Given the description of an element on the screen output the (x, y) to click on. 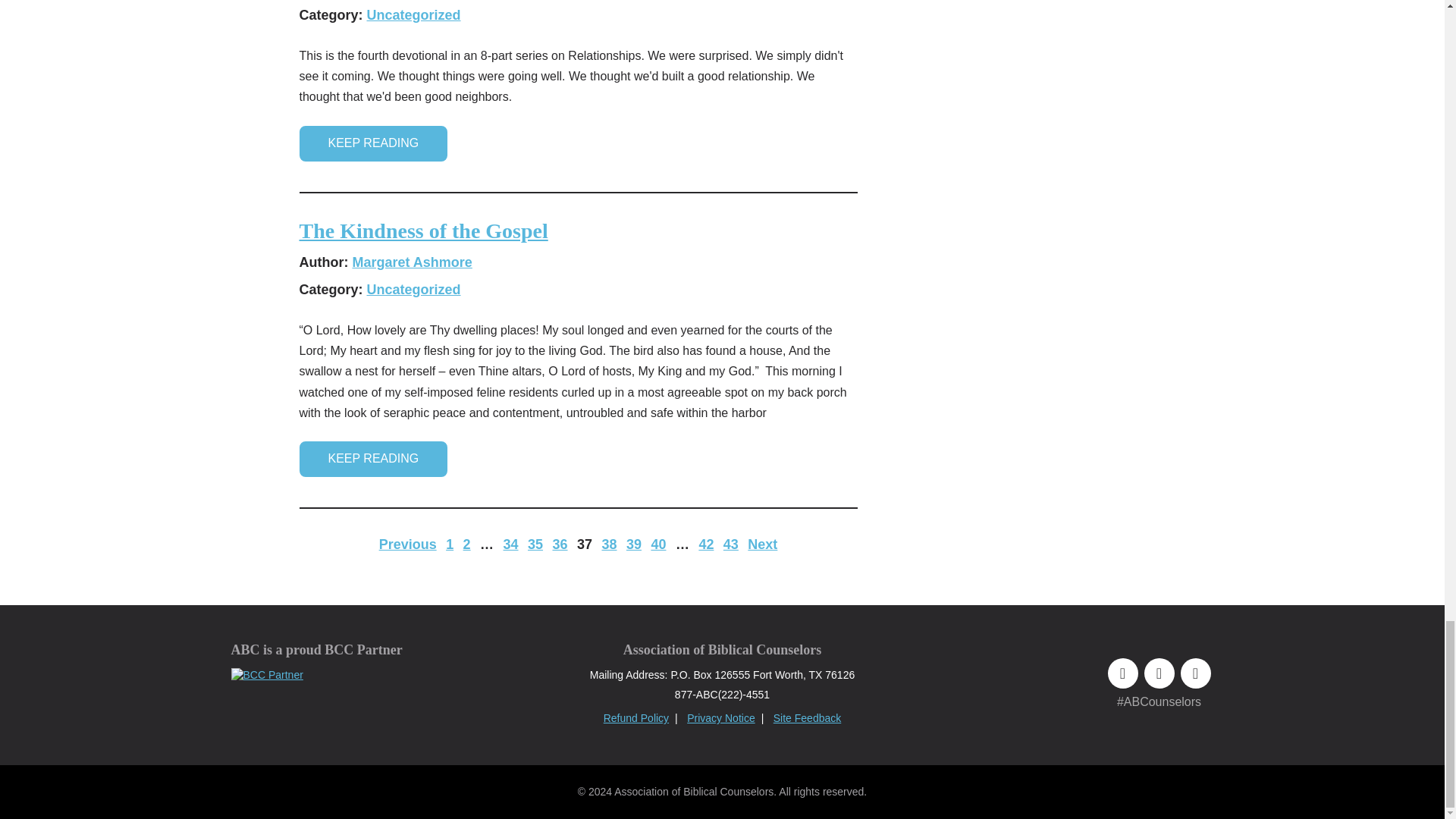
BCC Partner (266, 674)
